Given the description of an element on the screen output the (x, y) to click on. 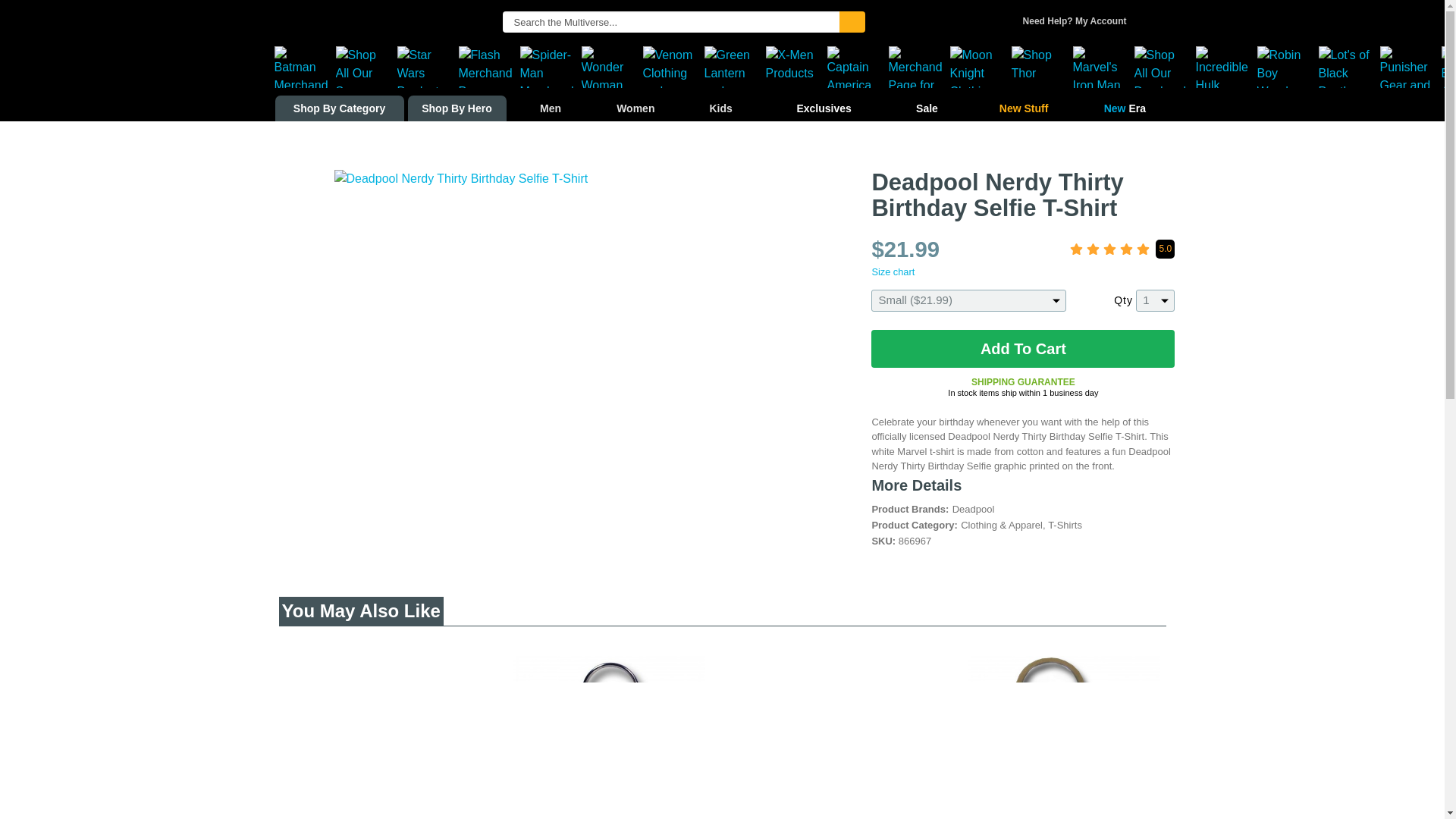
Spider-Man (549, 66)
Incredible Hulk (1225, 66)
Black Panther (1347, 66)
Star Wars (427, 66)
Robin (1288, 66)
Captain America (857, 66)
Moon Knight Clothing and Merchandise (979, 66)
Deadpool (1164, 66)
Batman (305, 66)
Wonder Woman (611, 66)
Iron Man (1102, 66)
Joker (919, 66)
Green Lantern (734, 66)
Flash (488, 66)
Punisher (1410, 66)
